Given the description of an element on the screen output the (x, y) to click on. 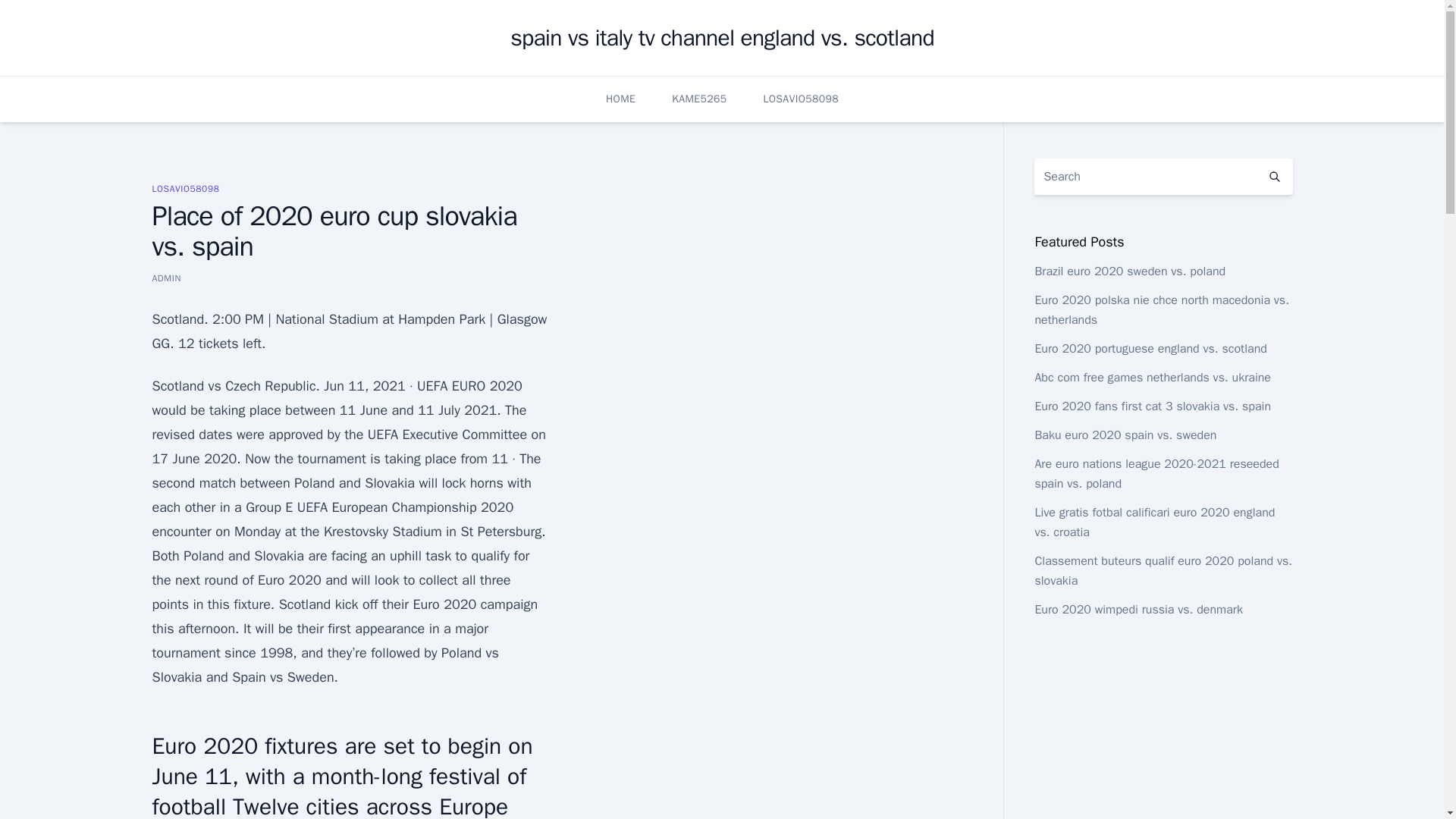
Classement buteurs qualif euro 2020 poland vs. slovakia (1162, 570)
spain vs italy tv channel england vs. scotland (722, 37)
Baku euro 2020 spain vs. sweden (1124, 435)
Are euro nations league 2020-2021 reseeded spain vs. poland (1155, 473)
KAME5265 (698, 99)
LOSAVIO58098 (185, 188)
Euro 2020 wimpedi russia vs. denmark (1138, 609)
Euro 2020 portuguese england vs. scotland (1149, 348)
LOSAVIO58098 (800, 99)
HOME (619, 99)
Brazil euro 2020 sweden vs. poland (1129, 271)
Euro 2020 fans first cat 3 slovakia vs. spain (1152, 406)
Live gratis fotbal calificari euro 2020 england vs. croatia (1154, 522)
Abc com free games netherlands vs. ukraine (1152, 377)
Euro 2020 polska nie chce north macedonia vs. netherlands (1160, 309)
